Given the description of an element on the screen output the (x, y) to click on. 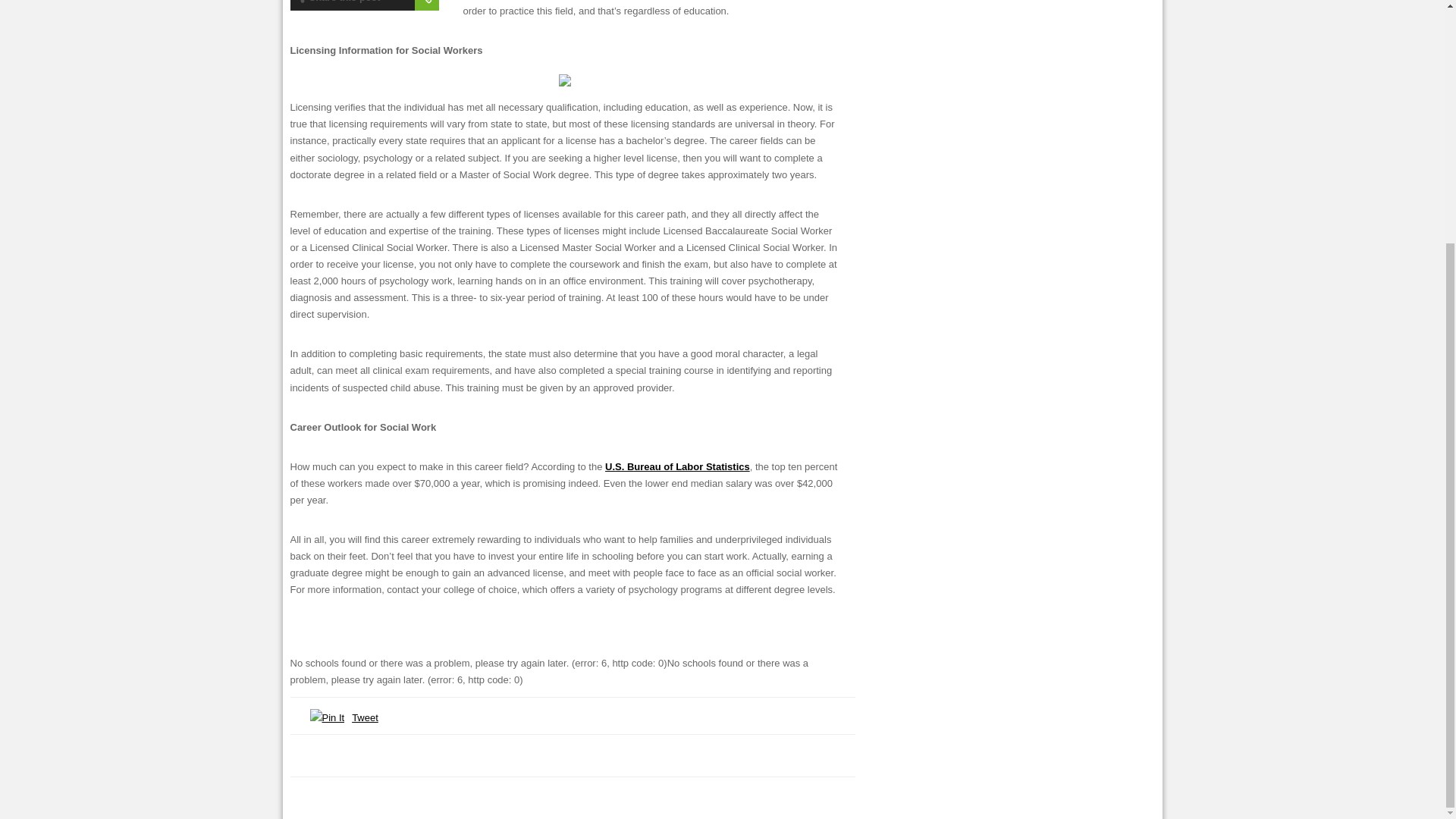
Tweet (365, 717)
U.S. Bureau of Labor Statistics (677, 466)
Share this post (336, 3)
Permalink (425, 5)
Pin It (325, 717)
